Given the description of an element on the screen output the (x, y) to click on. 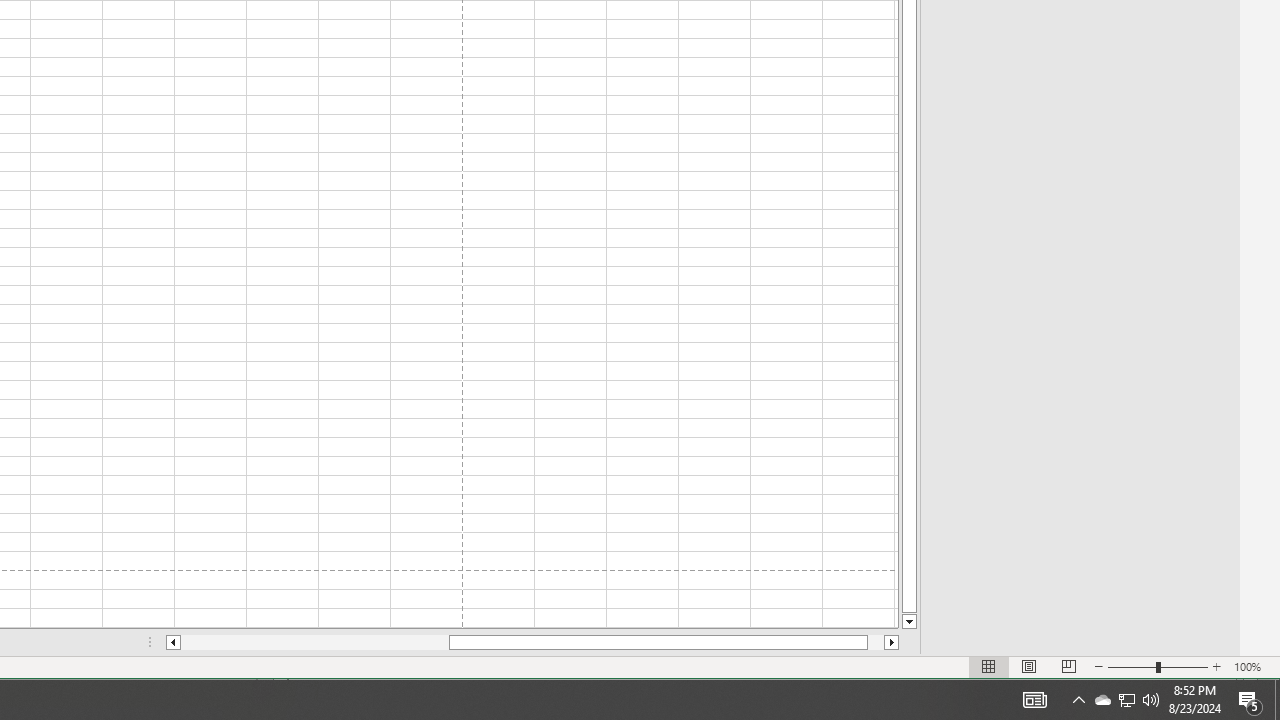
Notification Chevron (1078, 699)
Q2790: 100% (1151, 699)
